Given the description of an element on the screen output the (x, y) to click on. 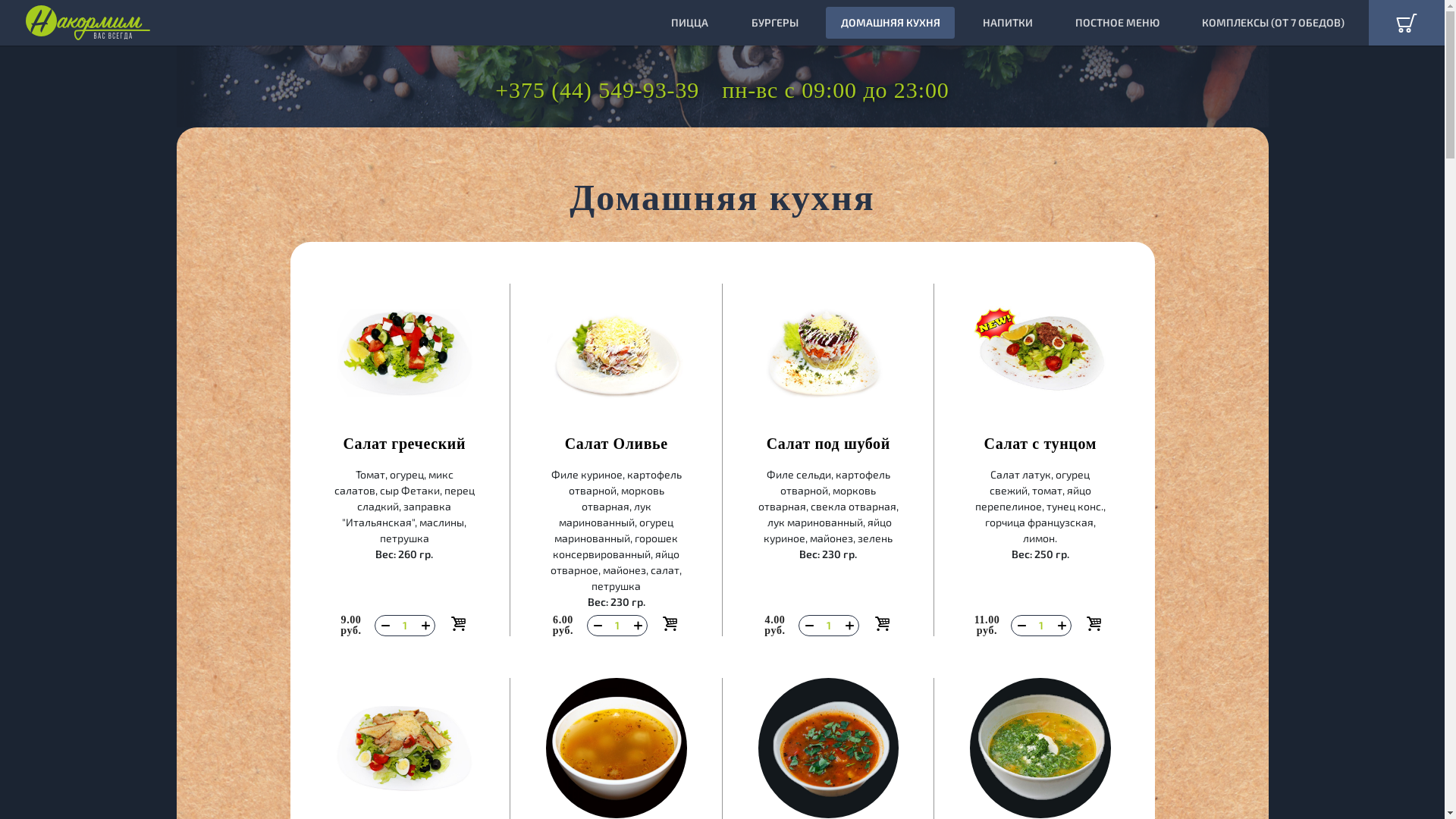
Cart Element type: text (1406, 22)
